Given the description of an element on the screen output the (x, y) to click on. 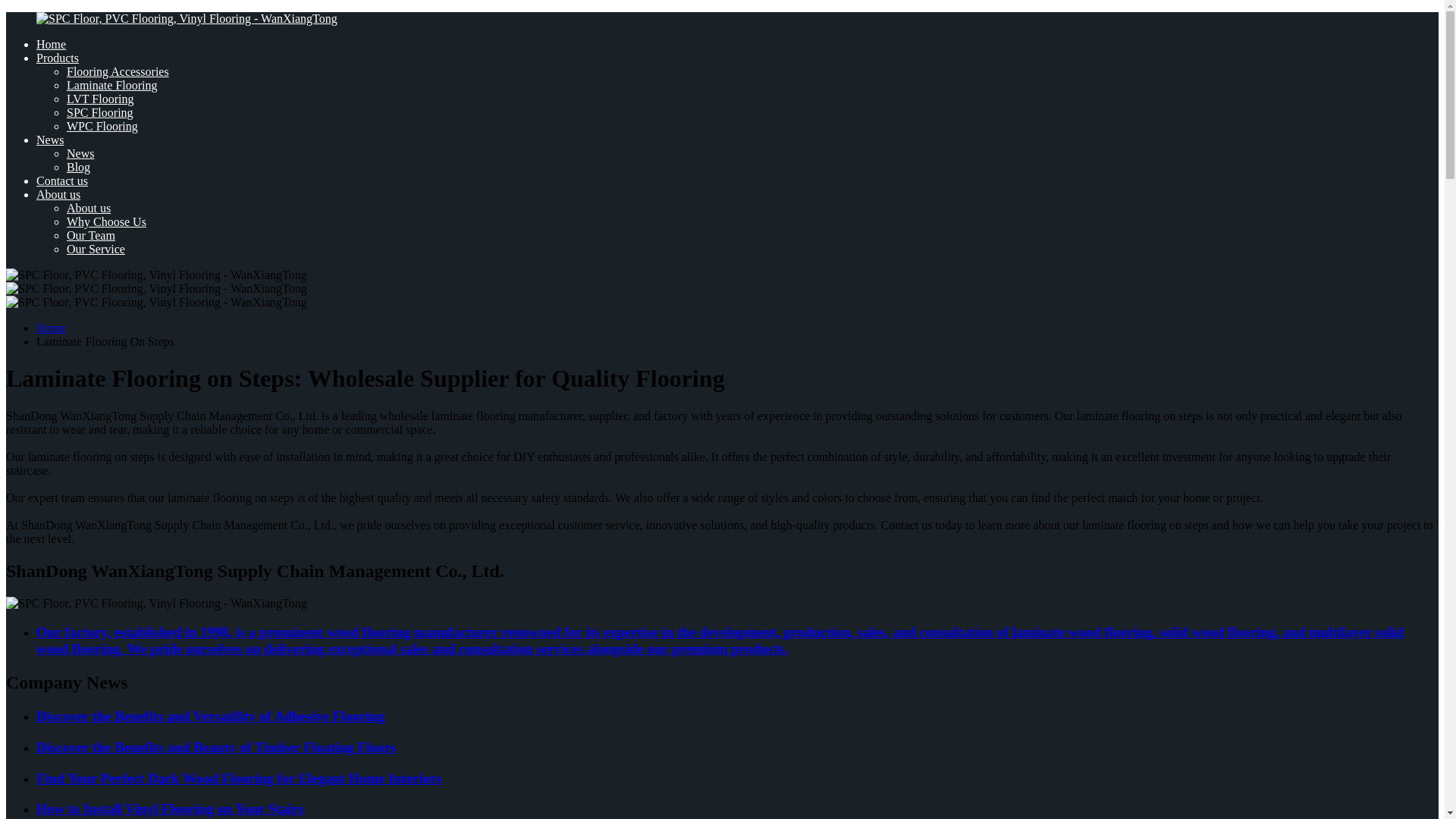
WPC Flooring (102, 125)
Home (50, 327)
LVT Flooring (99, 98)
Products (57, 57)
SPC Flooring (99, 112)
About us (58, 194)
Contact us (61, 180)
News (50, 139)
Laminate Flooring (111, 84)
About us (88, 207)
